Given the description of an element on the screen output the (x, y) to click on. 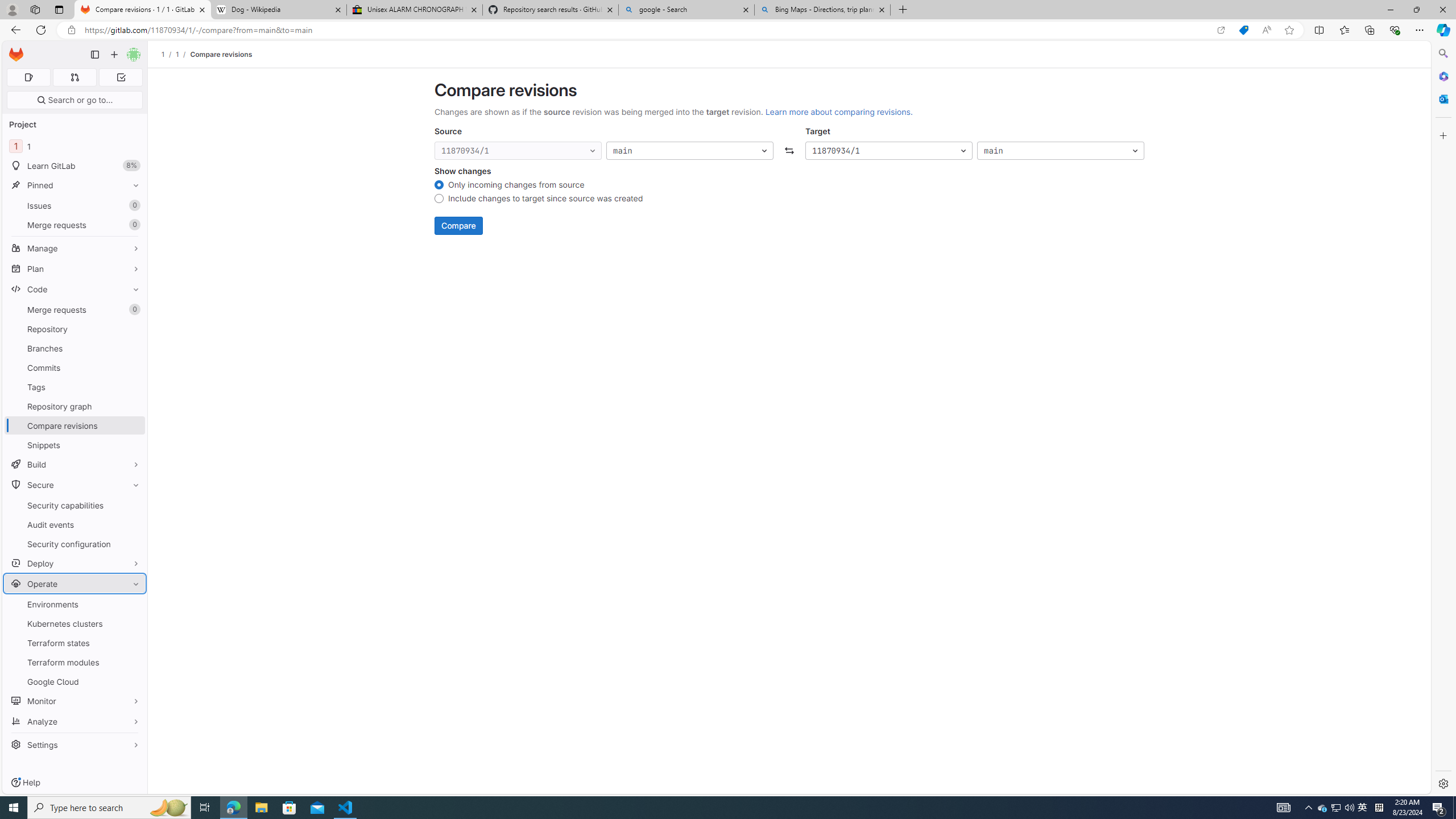
Open in app (1220, 29)
Pin Environments (132, 604)
Repository graph (74, 406)
Compare revisions (220, 53)
Learn GitLab 8% (74, 165)
1 (177, 53)
Compare (458, 226)
1 1 (74, 145)
